Given the description of an element on the screen output the (x, y) to click on. 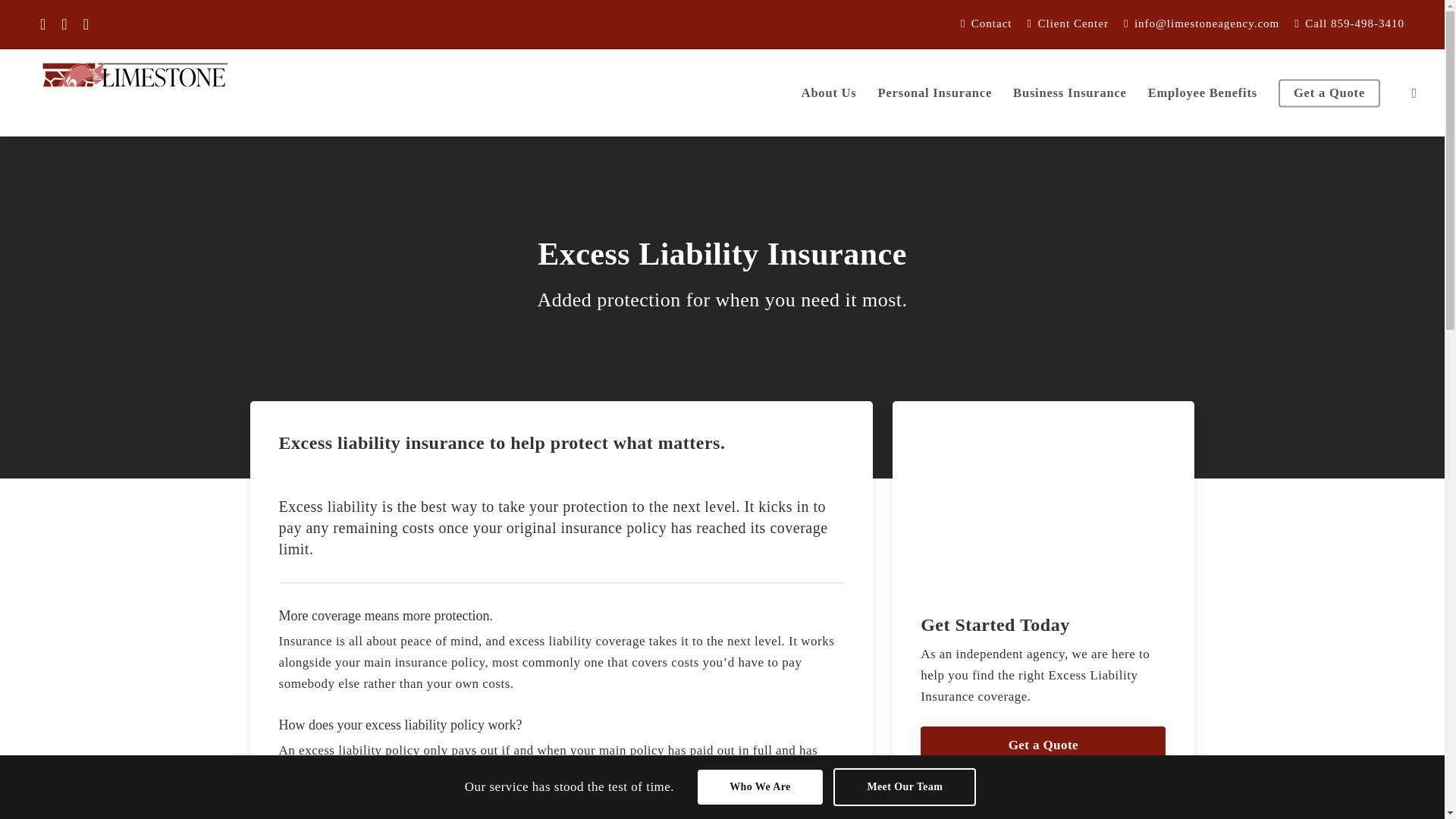
Employee Benefits (1202, 92)
Call 859-498-3410 (1349, 23)
Personal Insurance (934, 92)
Business Insurance (1069, 92)
Contact (986, 23)
About Us (829, 92)
Our service has stood the test of time. (574, 790)
Client Center (1068, 23)
